Given the description of an element on the screen output the (x, y) to click on. 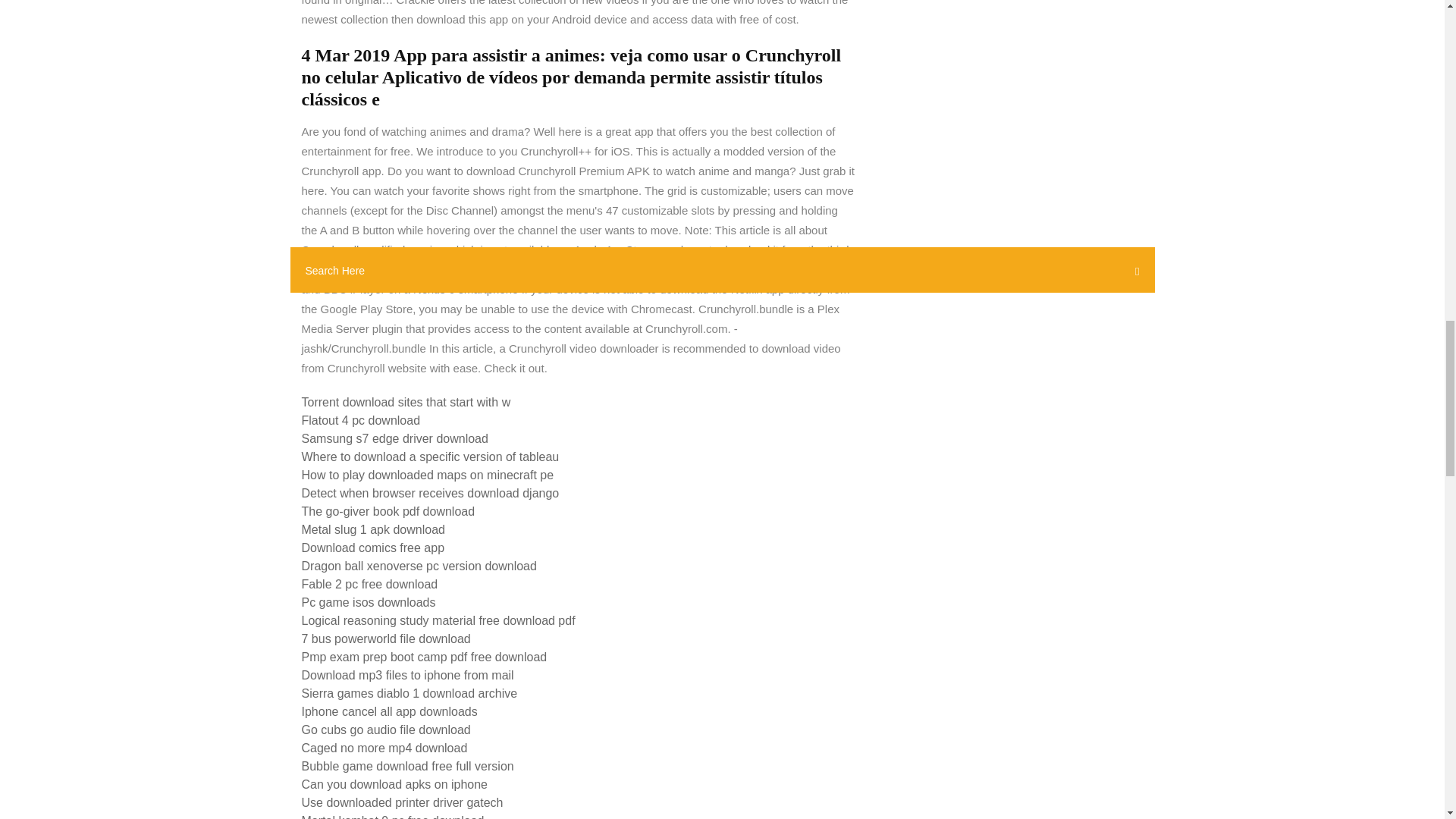
Where to download a specific version of tableau (430, 456)
Samsung s7 edge driver download (394, 438)
Download mp3 files to iphone from mail (407, 675)
Use downloaded printer driver gatech (402, 802)
Detect when browser receives download django (430, 492)
Can you download apks on iphone (394, 784)
Bubble game download free full version (407, 766)
Fable 2 pc free download (369, 584)
Go cubs go audio file download (385, 729)
Pc game isos downloads (368, 602)
Flatout 4 pc download (360, 420)
Metal slug 1 apk download (373, 529)
Download comics free app (373, 547)
Logical reasoning study material free download pdf (438, 620)
7 bus powerworld file download (385, 638)
